Given the description of an element on the screen output the (x, y) to click on. 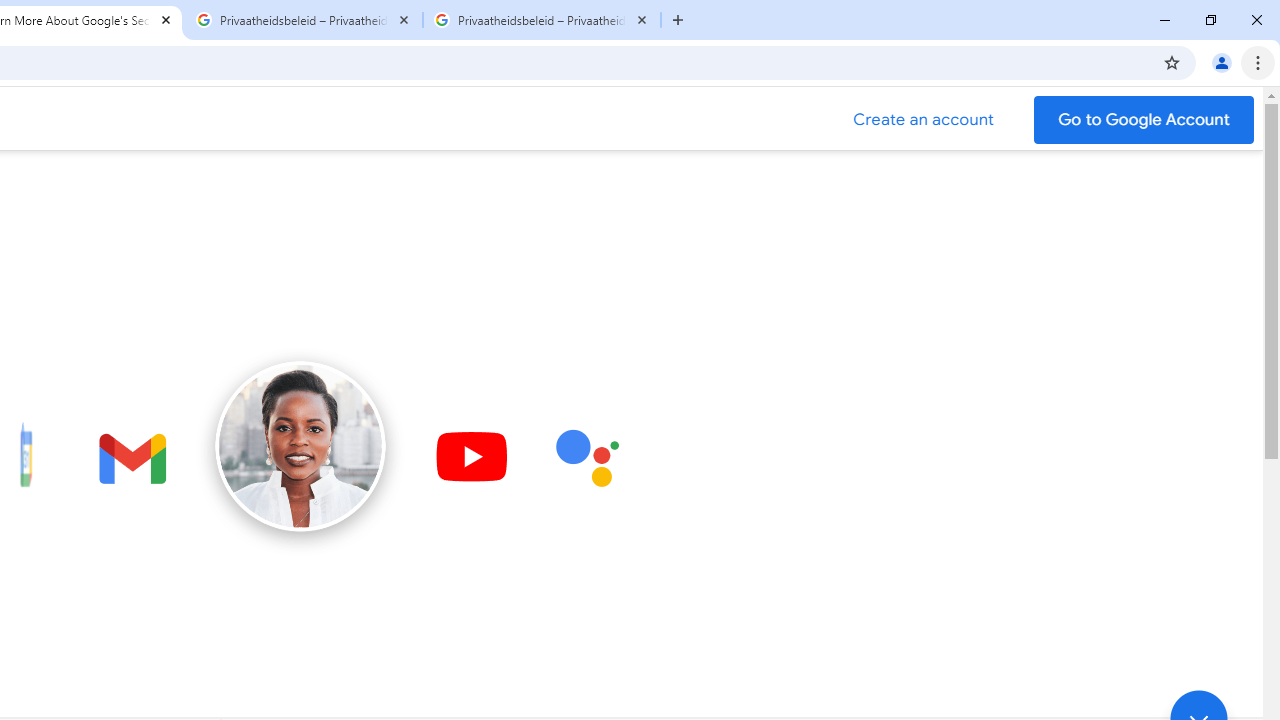
Close (641, 19)
Minimize (1165, 20)
Chrome (1260, 62)
New Tab (678, 20)
Restore (1210, 20)
Go to your Google Account (1144, 119)
You (1221, 62)
Create a Google Account (923, 119)
Bookmark this tab (1171, 62)
